Given the description of an element on the screen output the (x, y) to click on. 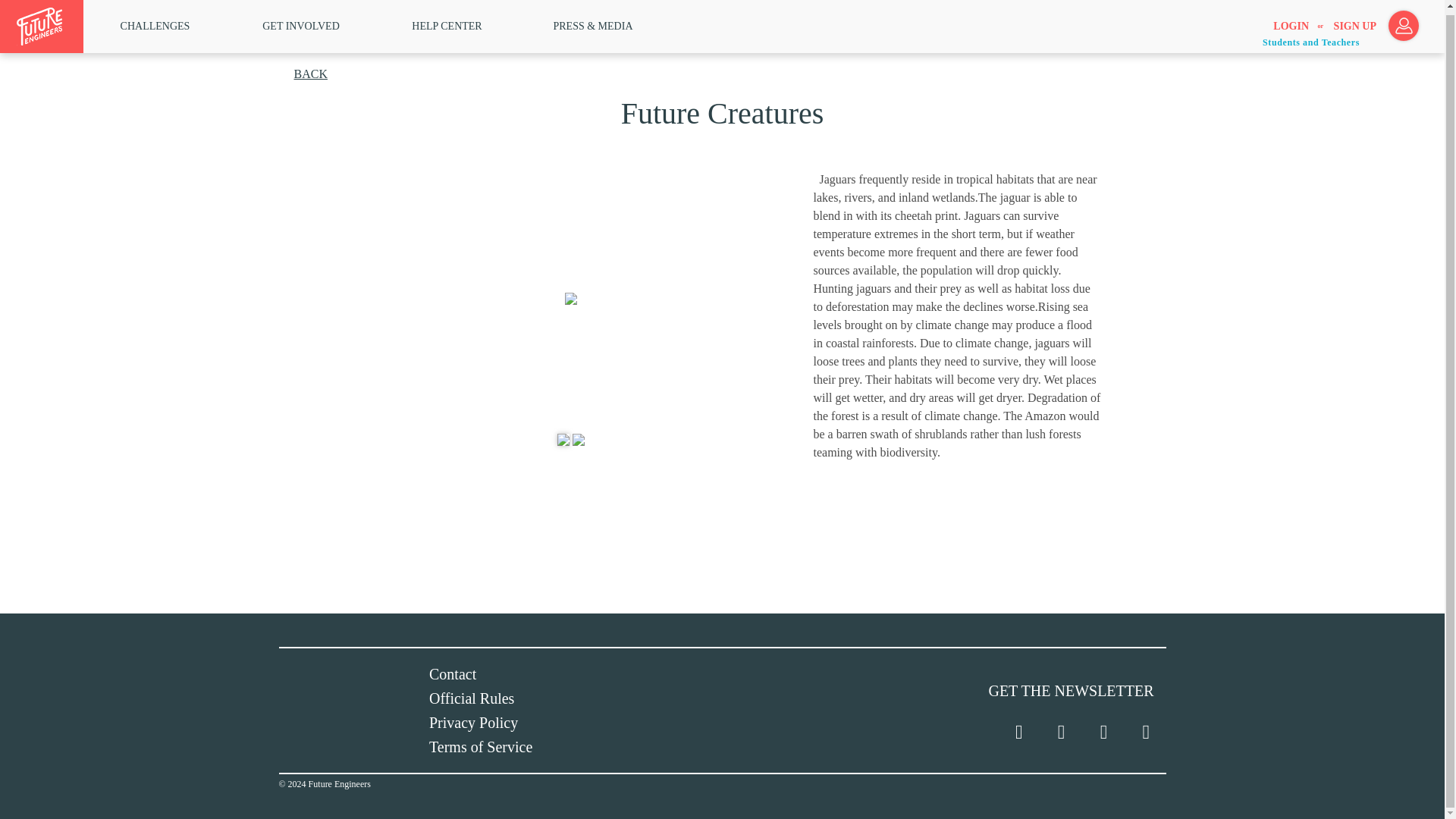
Follow us on Youtube (1145, 732)
Back (308, 73)
SIGN UP (1354, 22)
LOGIN (1290, 22)
CHALLENGES (155, 21)
HELP CENTER (446, 21)
Follow us on Instagram (1102, 732)
Follow us on Facebook (1060, 732)
Follow us on Twitter (1019, 732)
